Given the description of an element on the screen output the (x, y) to click on. 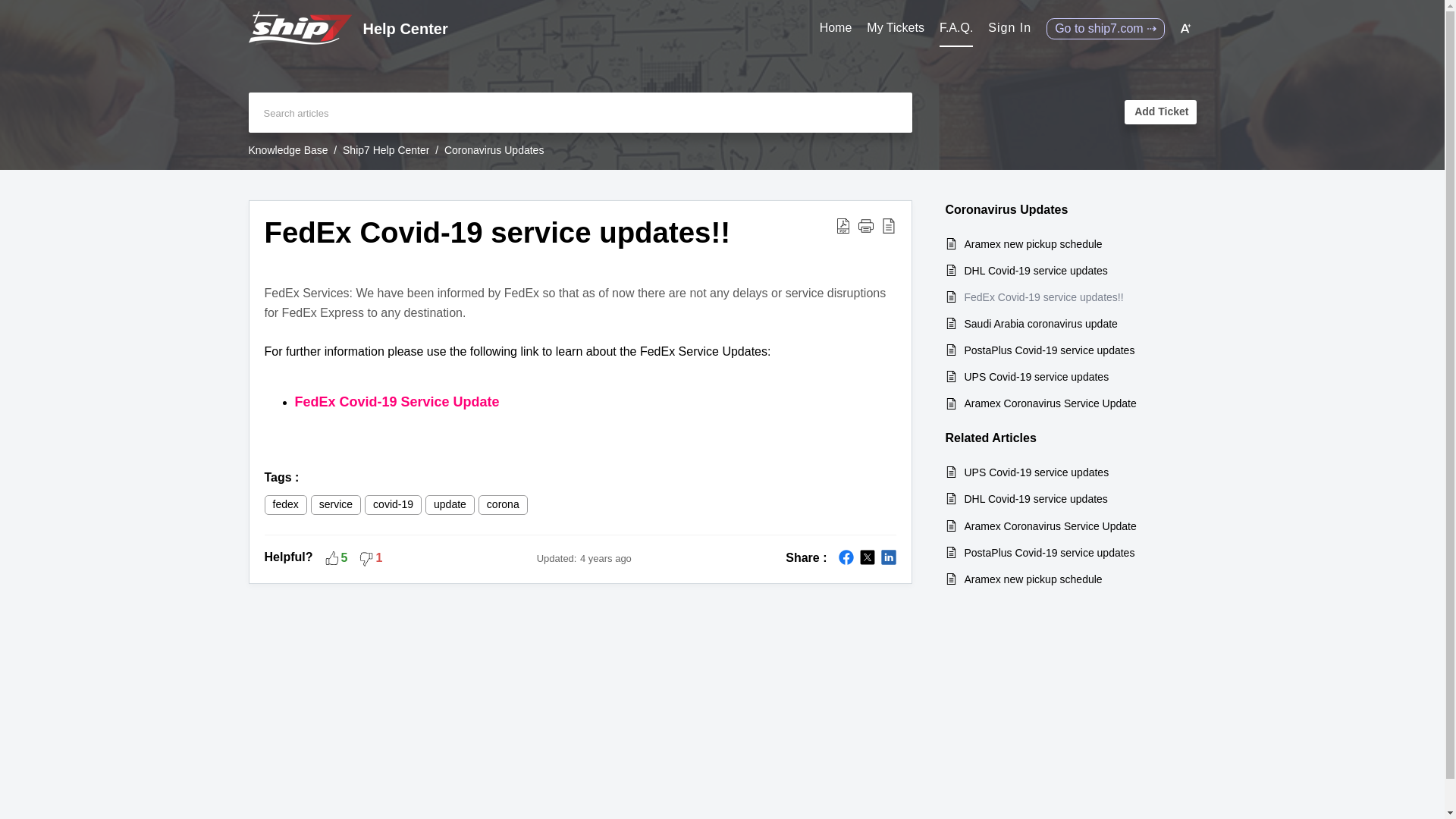
DHL Covid-19 service updates (1071, 498)
Aramex Coronavirus Service Update (1071, 524)
FedEx Covid-19 Service Update (396, 401)
Home (835, 27)
UPS Covid-19 service updates (1071, 376)
Knowledge Base (288, 150)
UPS Covid-19 service updates (1071, 472)
Facebook (845, 557)
FedEx Covid-19 service updates!! (1071, 297)
Coronavirus Updates (494, 150)
update (450, 505)
DHL Covid-19 service updates (1071, 270)
PostaPlus Covid-19 service updates (1071, 350)
Aramex Coronavirus Service Update (1071, 402)
LinkedIn (888, 557)
